Given the description of an element on the screen output the (x, y) to click on. 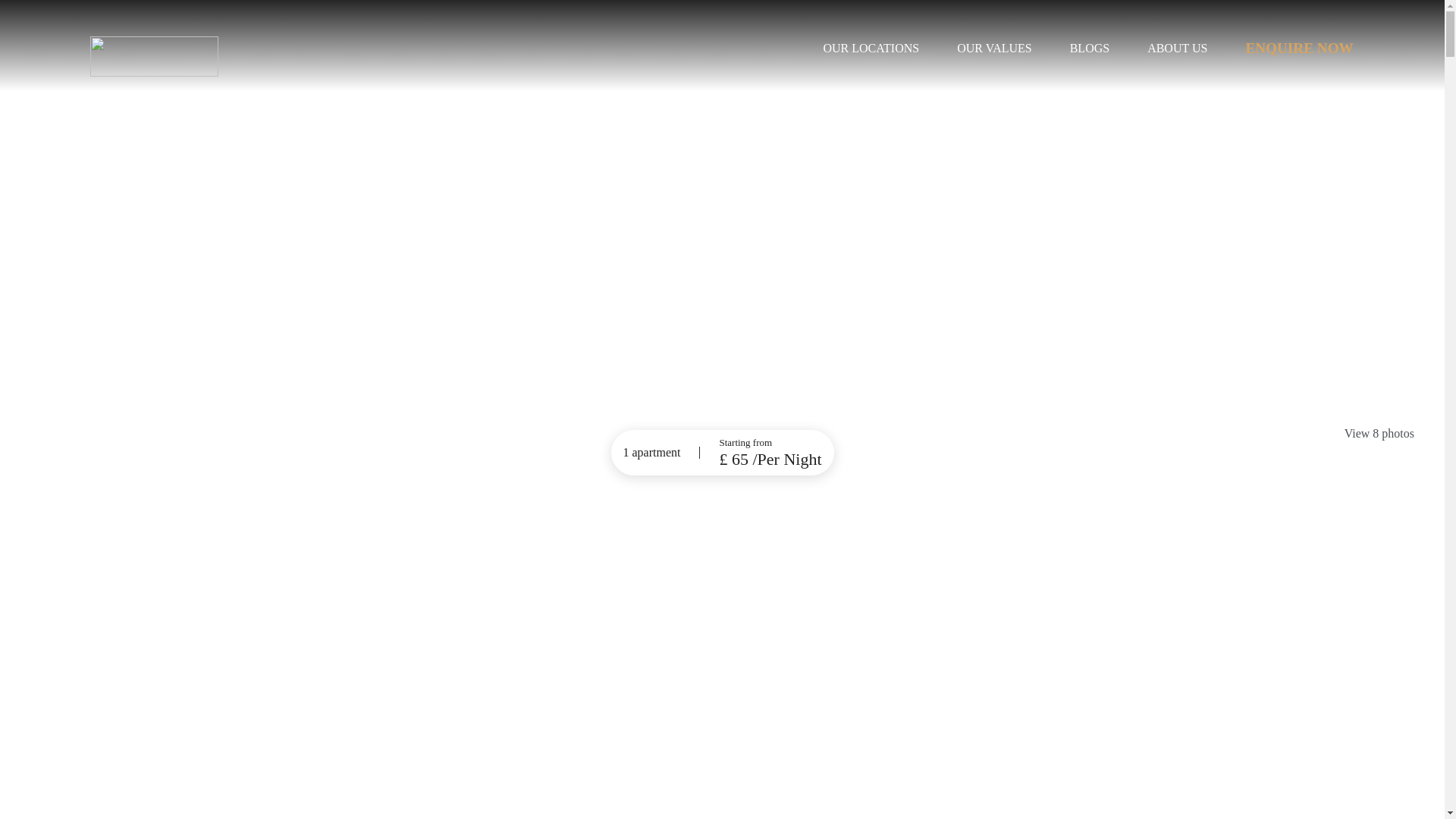
OUR VALUES (994, 48)
ABOUT US (1177, 48)
OUR LOCATIONS (870, 48)
View 8 photos (1379, 433)
ENQUIRE NOW (1298, 47)
BLOGS (1089, 48)
